Given the description of an element on the screen output the (x, y) to click on. 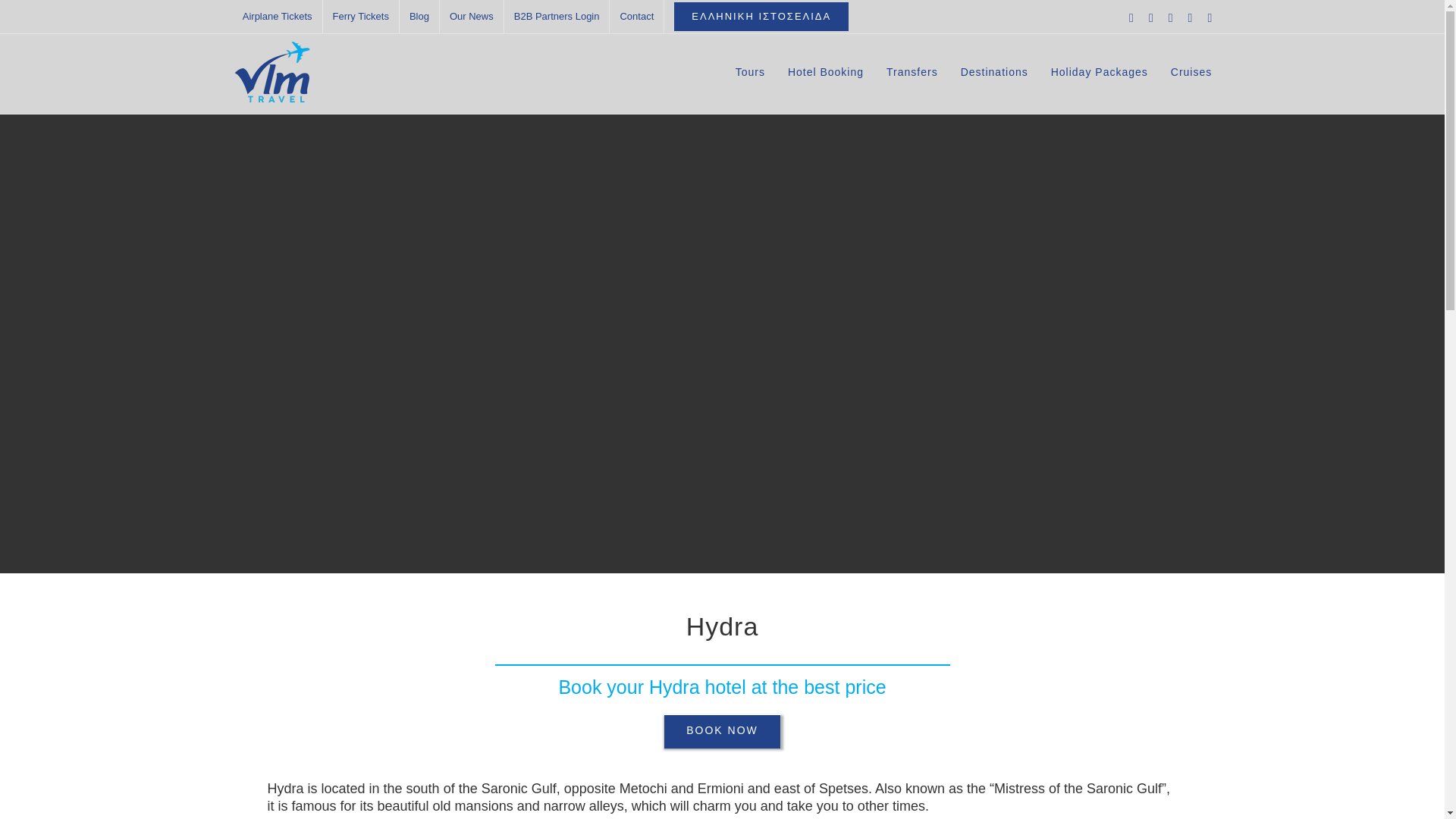
Holiday Packages (1099, 71)
Destinations (993, 71)
Hotel Booking (825, 71)
Airplane Tickets (276, 16)
Ferry Tickets (360, 16)
B2B Partners Login (556, 16)
Our News (471, 16)
Blog (418, 16)
Book your Hydra hotel at the best price (721, 686)
Contact (636, 16)
